Given the description of an element on the screen output the (x, y) to click on. 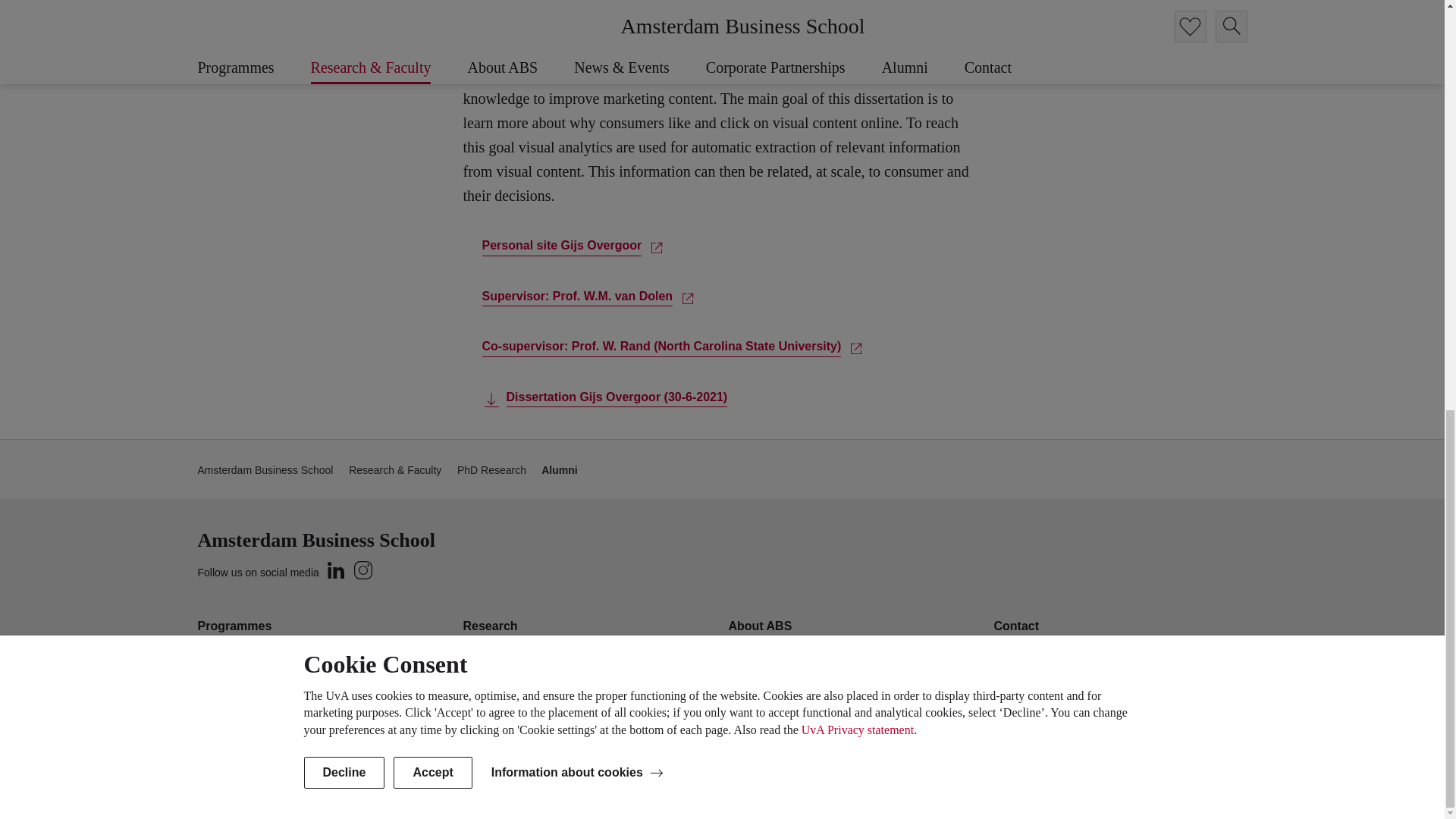
Privacy (1139, 787)
About this site (1076, 787)
University of Amsterdam (333, 786)
